Given the description of an element on the screen output the (x, y) to click on. 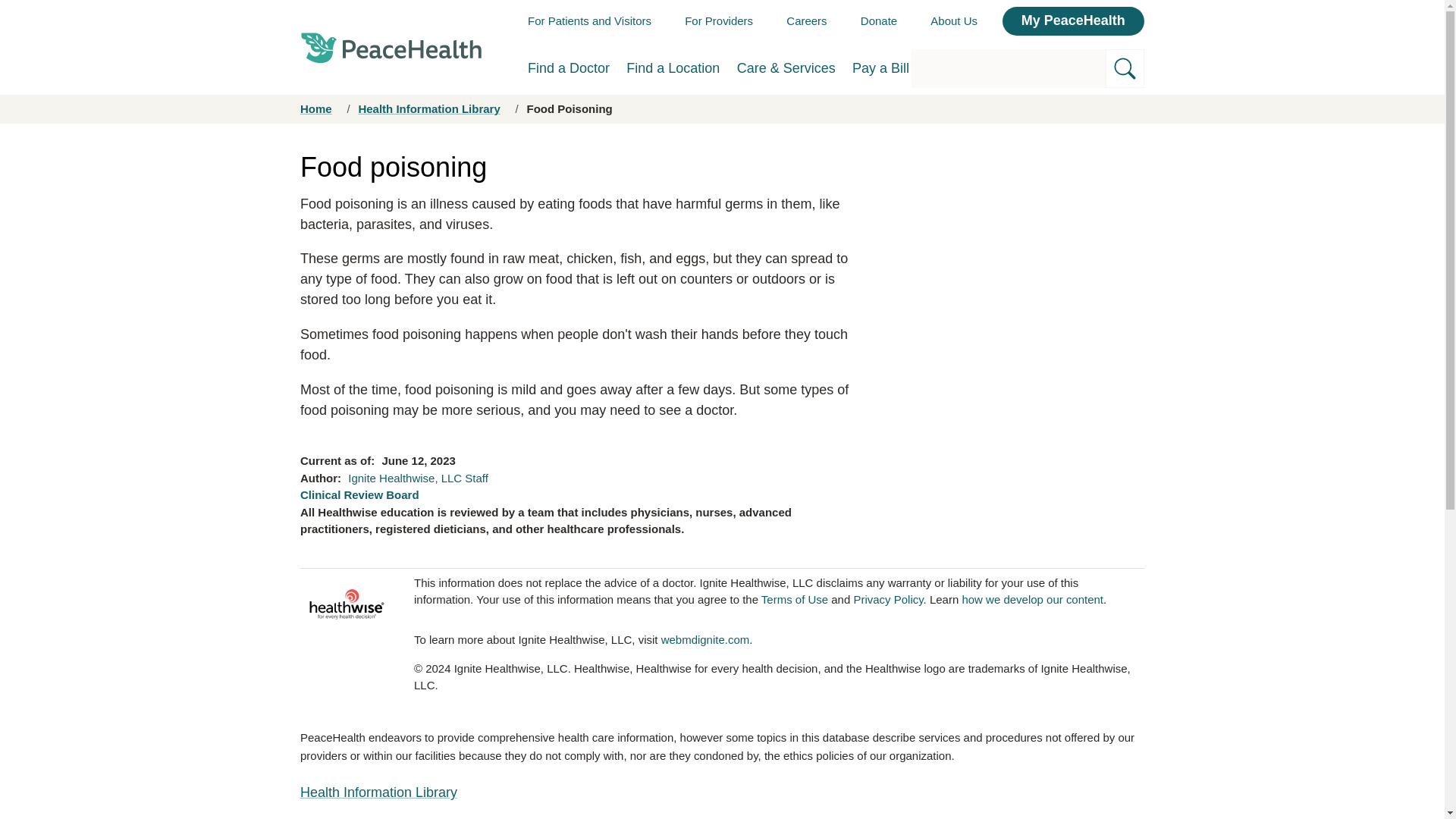
Careers (806, 20)
Ignite Healthwise, LLC Staff (417, 477)
Pay a Bill (879, 68)
Terms of Use (794, 599)
PeaceHealth Home (390, 47)
how we develop our content (1031, 599)
For Patients and Visitors (588, 20)
Find a Location (672, 68)
